Given the description of an element on the screen output the (x, y) to click on. 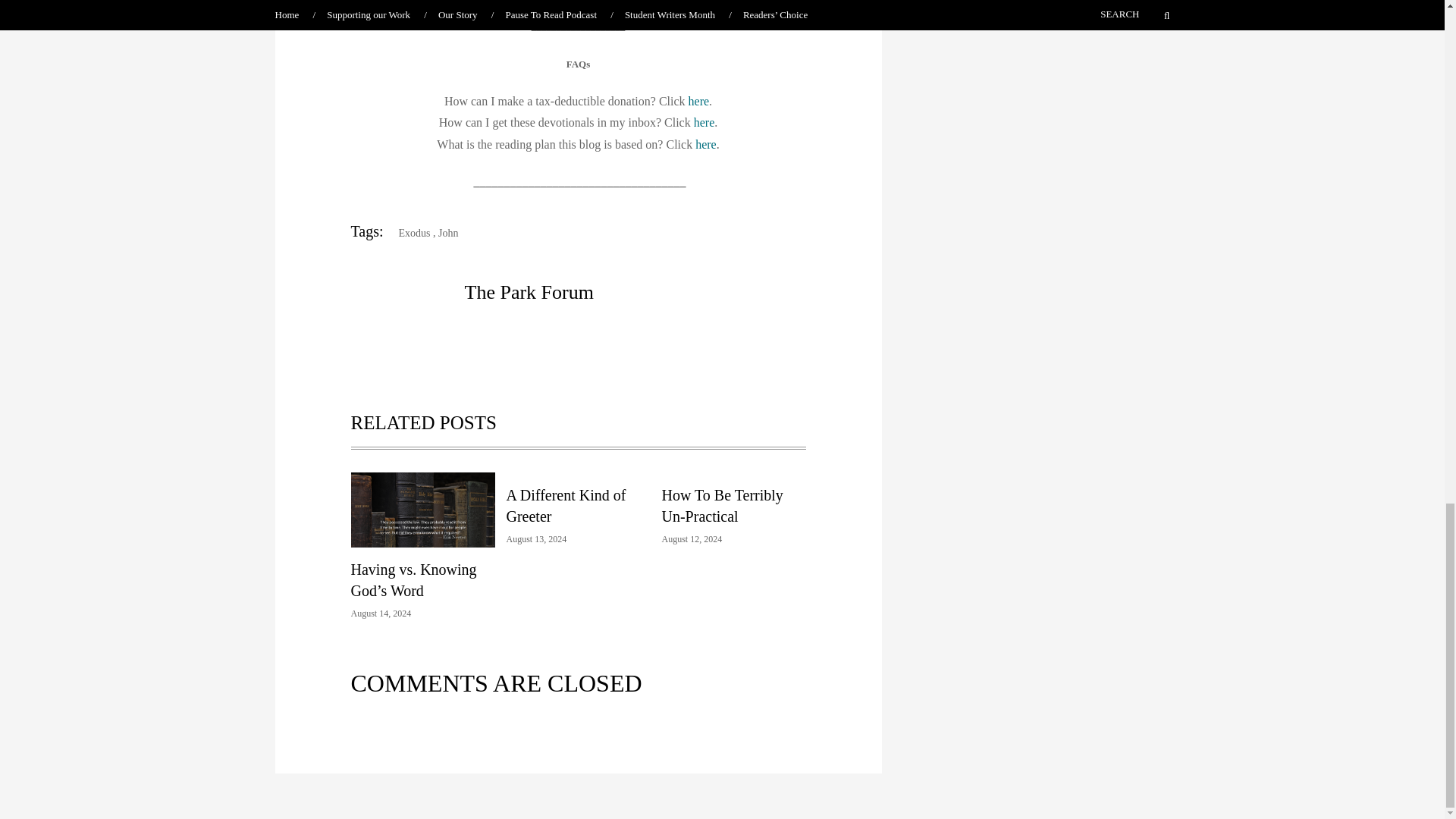
here (704, 122)
here (705, 144)
How To Be Terribly Un-Practical (722, 505)
Exodus (408, 233)
A Different Kind of Greeter (566, 505)
John (448, 233)
here (699, 101)
